Given the description of an element on the screen output the (x, y) to click on. 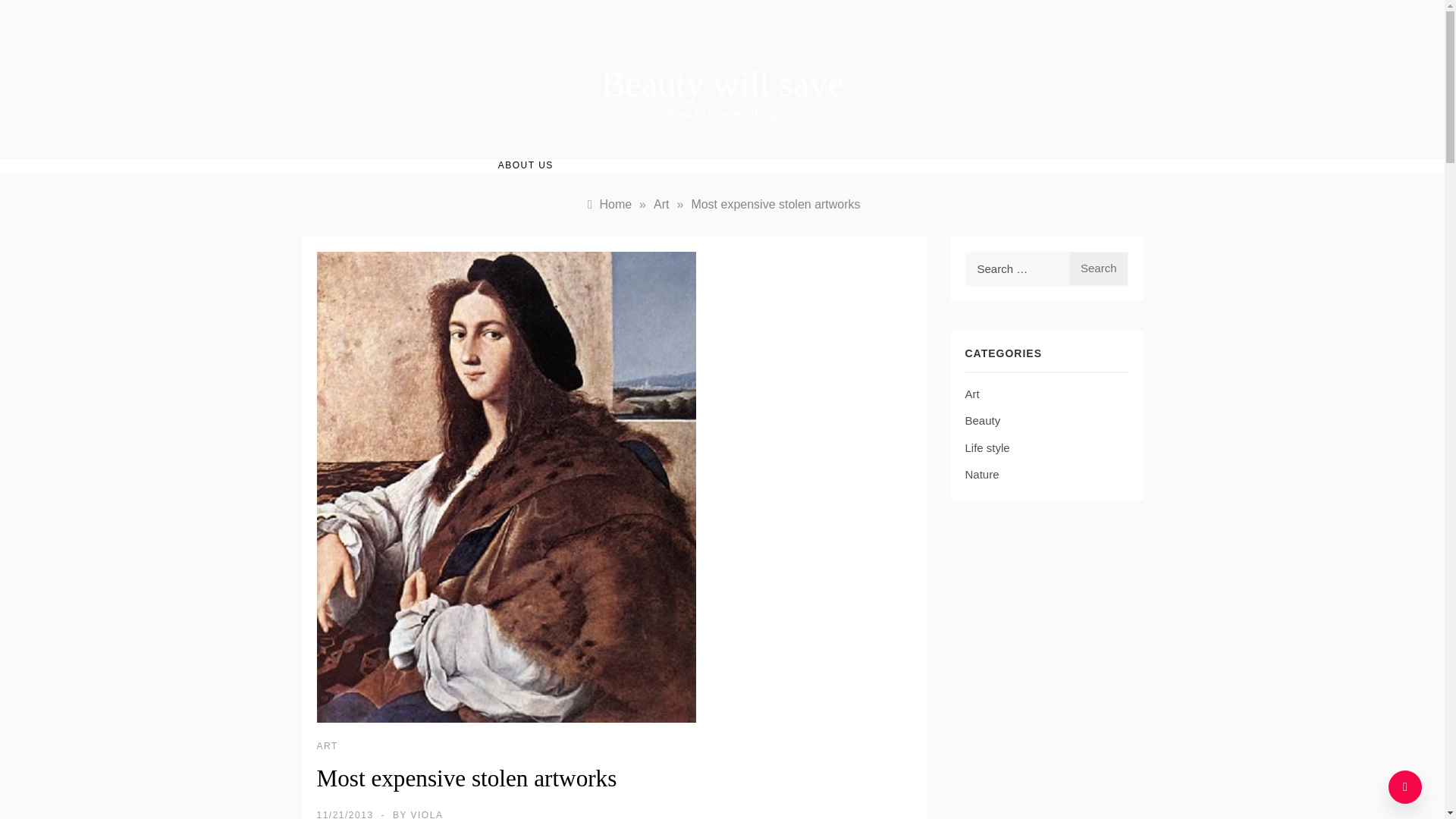
Nature (980, 474)
Search (1098, 268)
Search (1098, 268)
Home (607, 204)
Search (1098, 268)
ART (327, 746)
Art (660, 204)
Beauty (981, 420)
Go to Top (1405, 786)
Life style (986, 447)
ABOUT US (525, 164)
VIOLA (427, 814)
Beauty will save (722, 83)
Most expensive stolen artworks (775, 204)
